Given the description of an element on the screen output the (x, y) to click on. 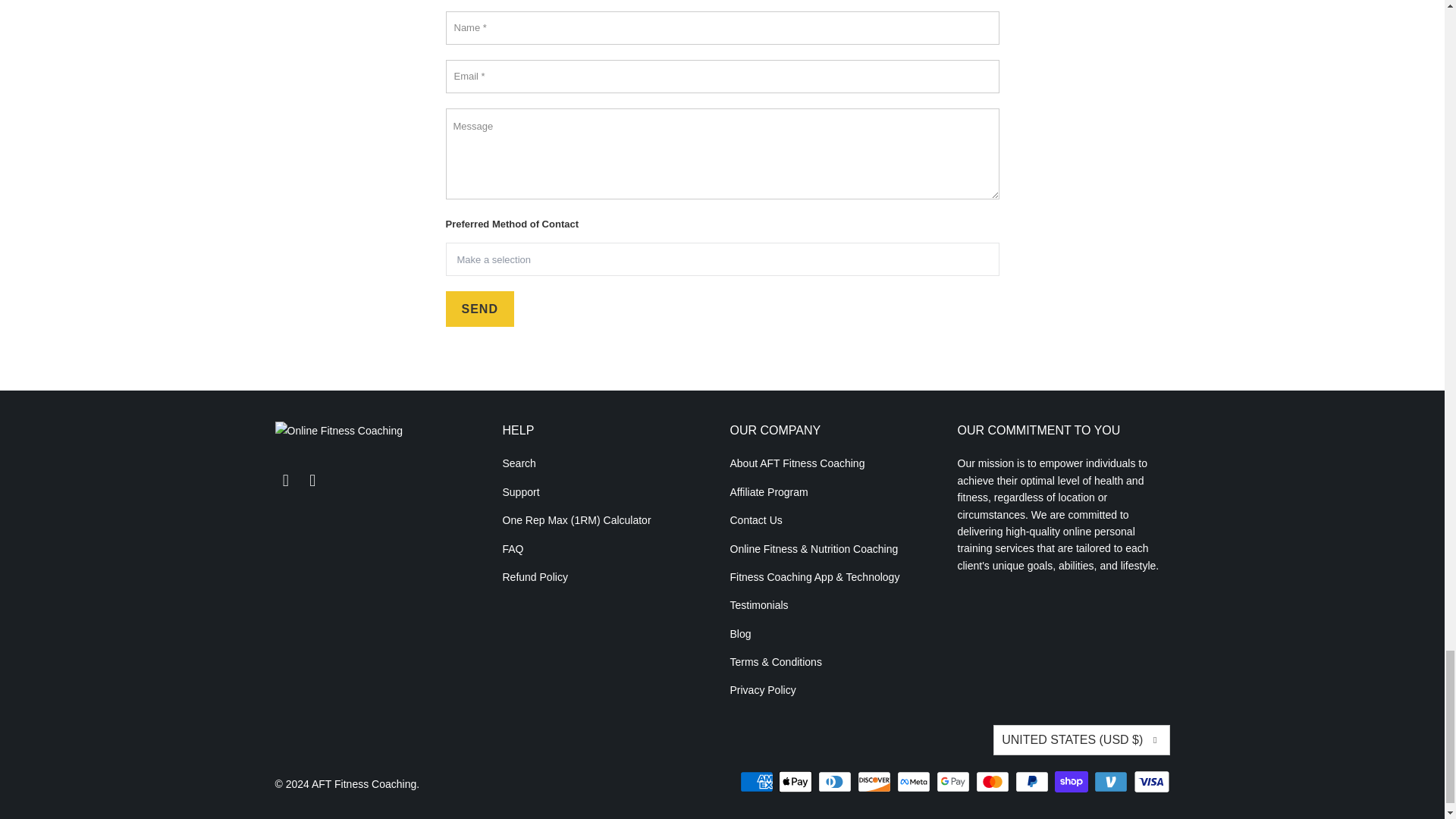
Mastercard (993, 781)
Visa (1150, 781)
PayPal (1032, 781)
Google Pay (954, 781)
Meta Pay (914, 781)
Apple Pay (796, 781)
Send (479, 308)
Venmo (1112, 781)
Discover (875, 781)
Diners Club (836, 781)
